Given the description of an element on the screen output the (x, y) to click on. 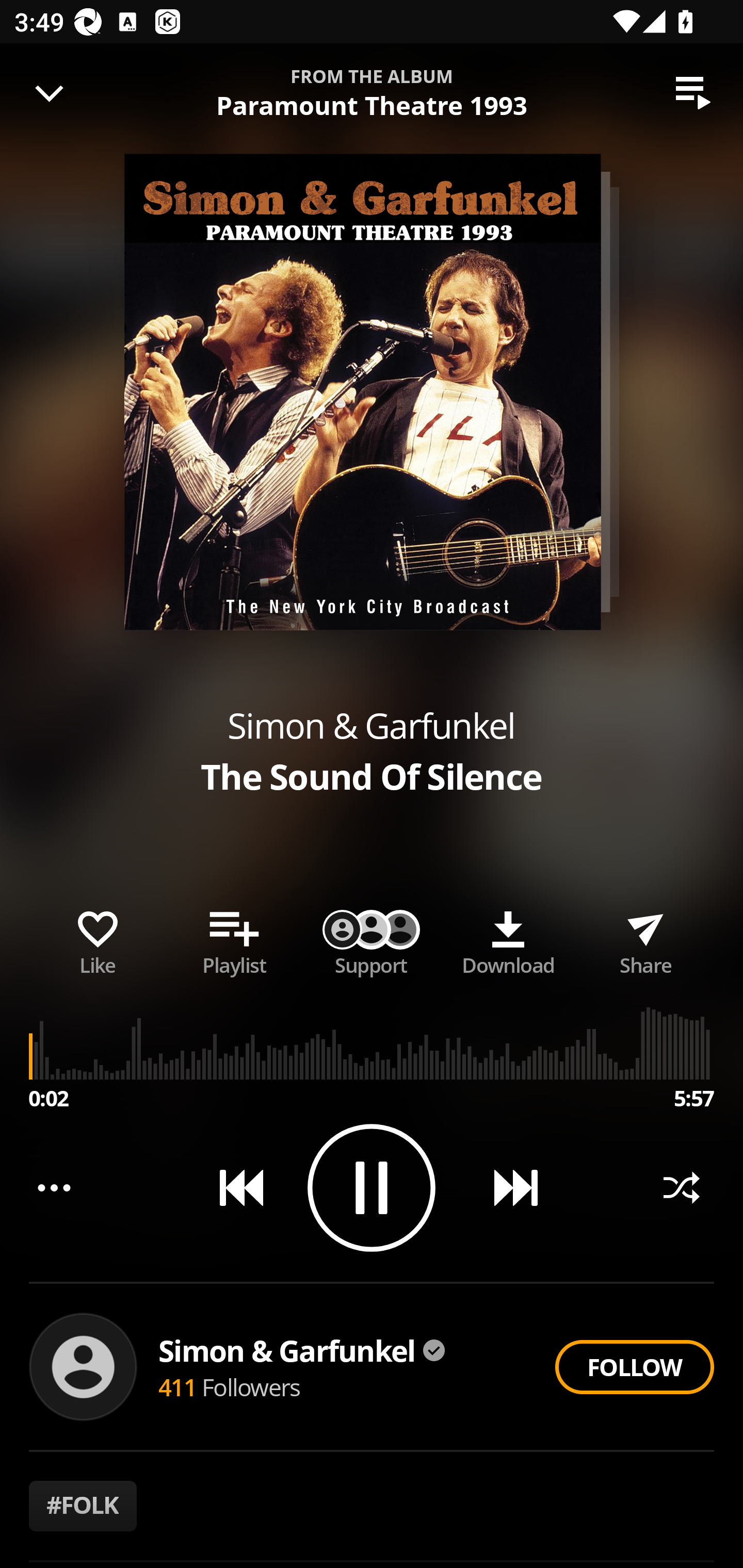
The Sound of Silence Cancel (371, 82)
Minimise player (49, 93)
Queue (693, 93)
Album art (362, 391)
Simon & Garfunkel (370, 724)
Like (97, 939)
Add song to playlist Playlist (234, 939)
Support (371, 939)
Download (507, 939)
Share (645, 939)
Play/Pause (371, 1187)
Previous song (233, 1187)
Next song (508, 1187)
Simon & Garfunkel (302, 1350)
FOLLOW Follow (634, 1366)
411 (177, 1386)
#FOLK (82, 1505)
